Given the description of an element on the screen output the (x, y) to click on. 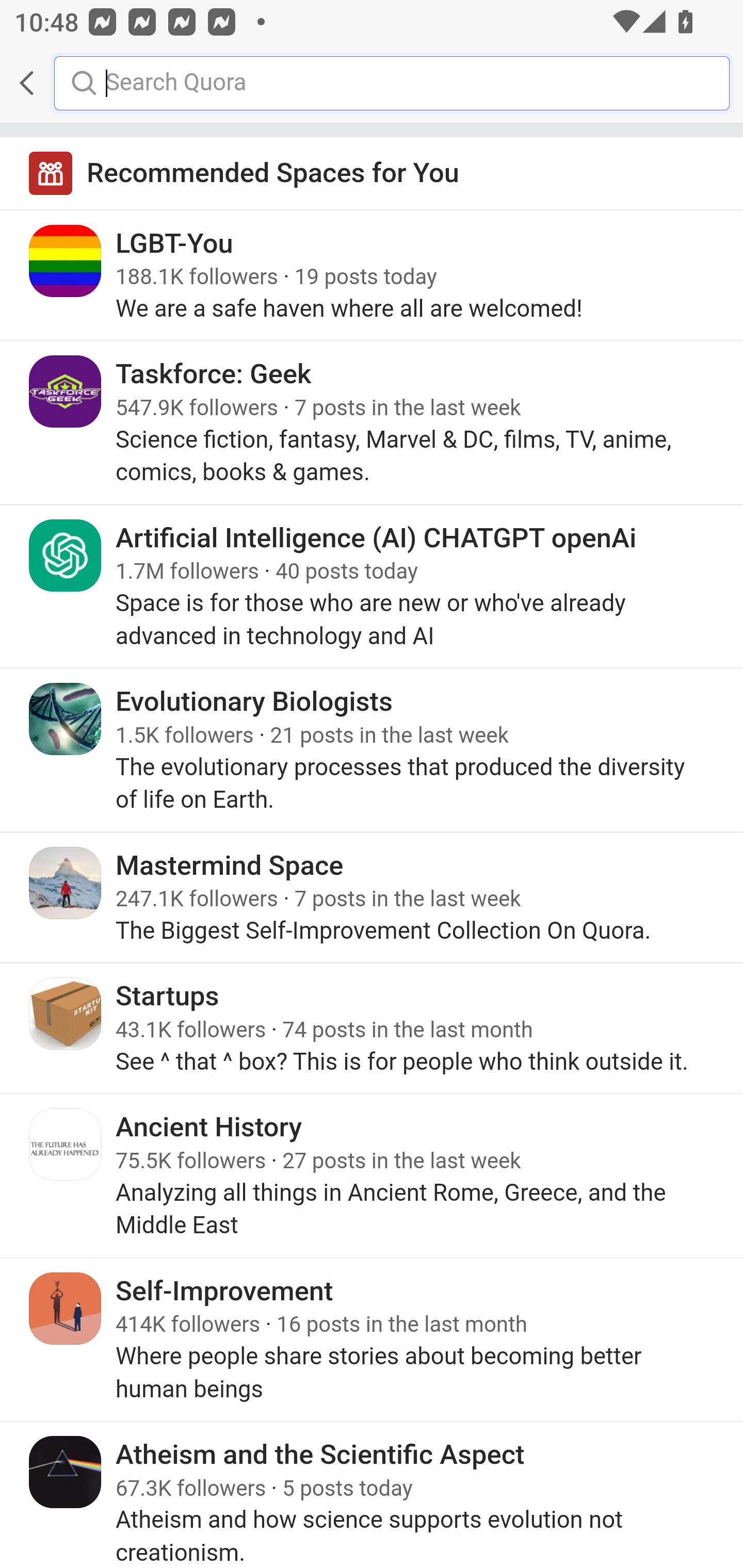
Me Home Search Add (371, 82)
Icon for LGBT-You (65, 260)
Icon for Taskforce: Geek (65, 391)
Icon for Evolutionary Biologists (65, 718)
Icon for Mastermind Space (65, 882)
Icon for Startups (65, 1013)
Icon for Ancient History (65, 1145)
Icon for Self-Improvement (65, 1308)
Icon for Atheism and the Scientific Aspect (65, 1471)
